Given the description of an element on the screen output the (x, y) to click on. 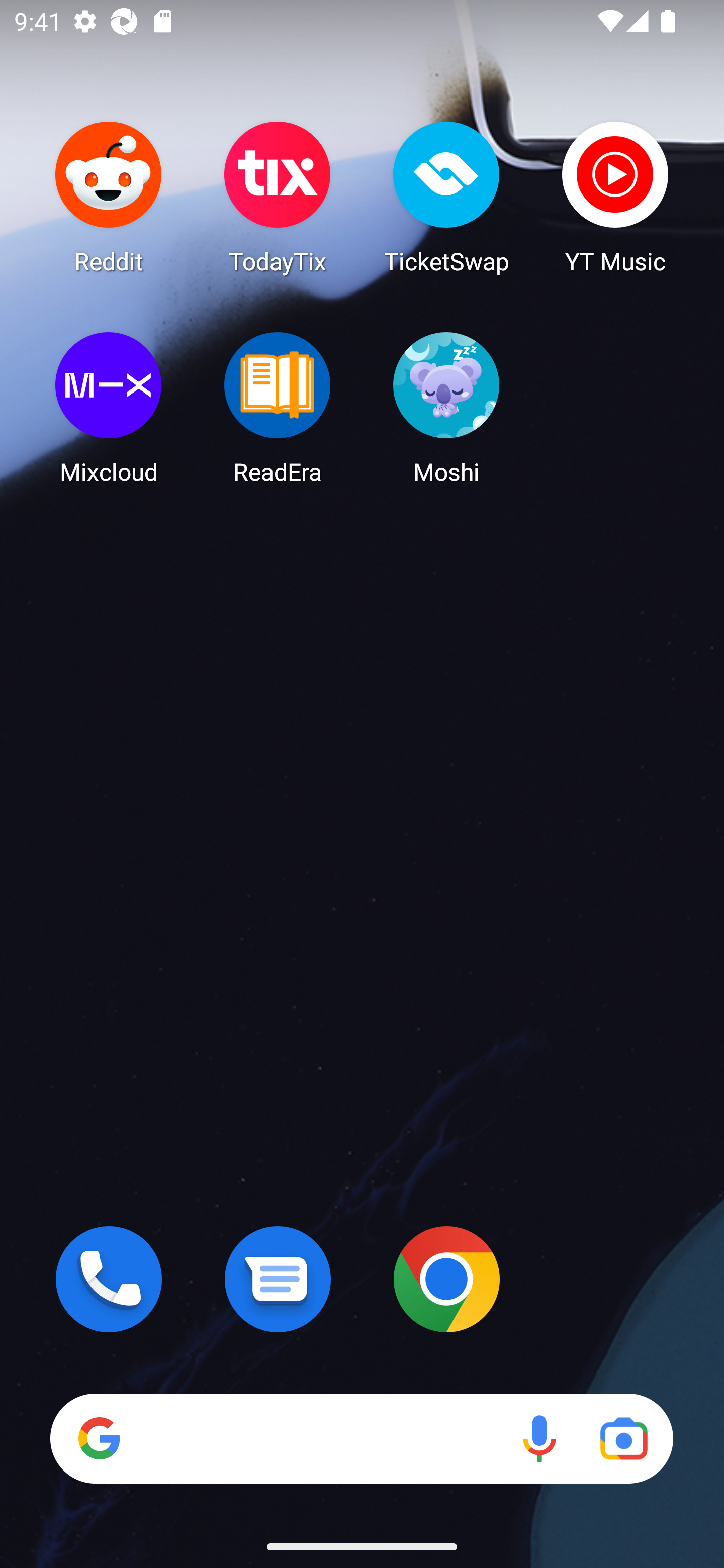
Reddit (108, 196)
TodayTix (277, 196)
TicketSwap (445, 196)
YT Music (615, 196)
Mixcloud (108, 407)
ReadEra (277, 407)
Moshi (445, 407)
Phone (108, 1279)
Messages (277, 1279)
Chrome (446, 1279)
Voice search (539, 1438)
Google Lens (623, 1438)
